Given the description of an element on the screen output the (x, y) to click on. 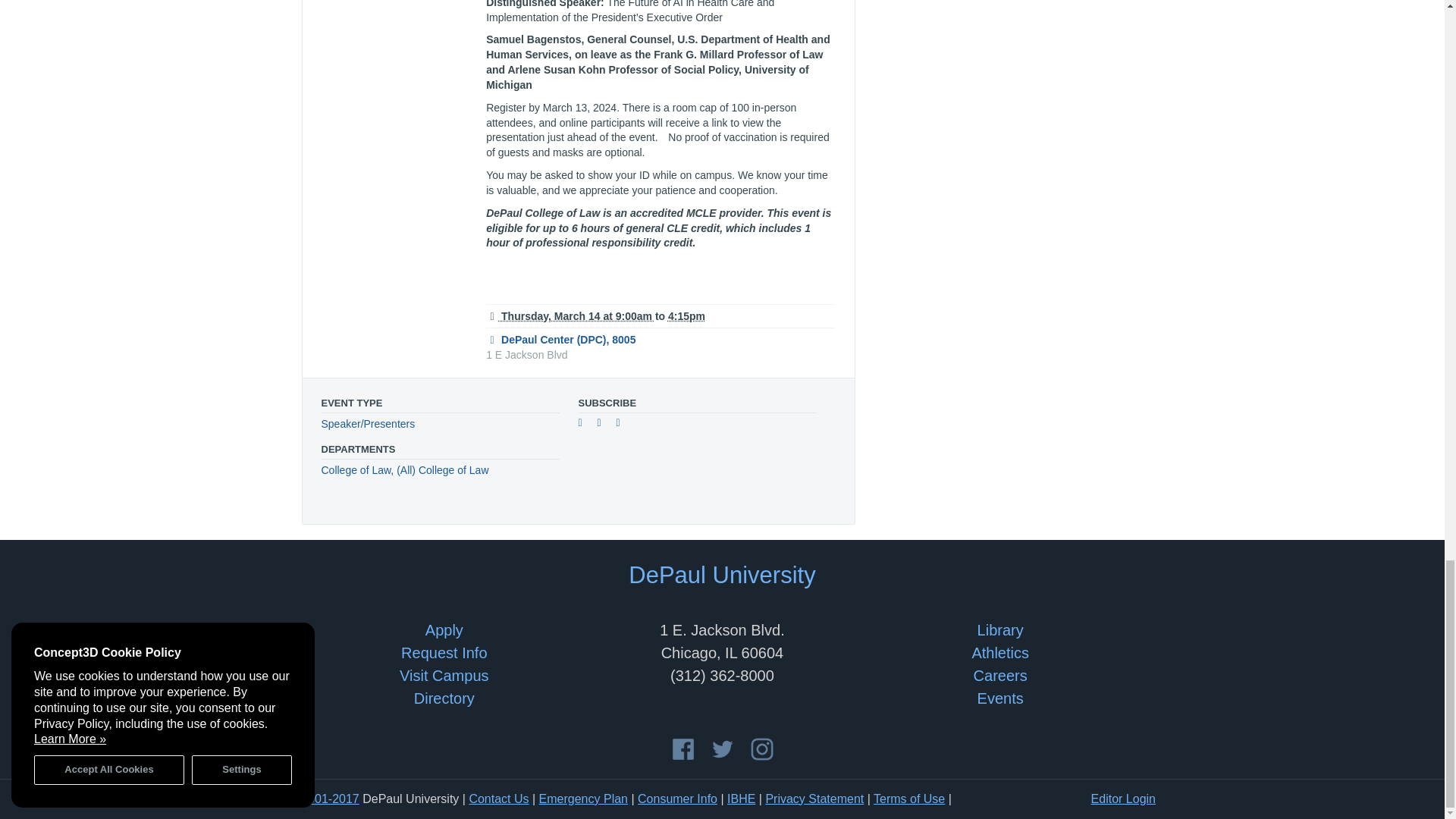
Library (999, 629)
Consumer Info (677, 798)
iCal (604, 424)
Events (999, 698)
Terms of Use (908, 798)
Careers (1000, 675)
College of Law (356, 469)
Directory (443, 698)
Athletics (1000, 652)
Save to Outlook (622, 424)
Privacy Statement (814, 798)
2024-03-14T09:00:00-05:00 (570, 316)
Google Calendar (585, 424)
Emergency Plan (582, 798)
Save to Google Calendar (585, 424)
